Given the description of an element on the screen output the (x, y) to click on. 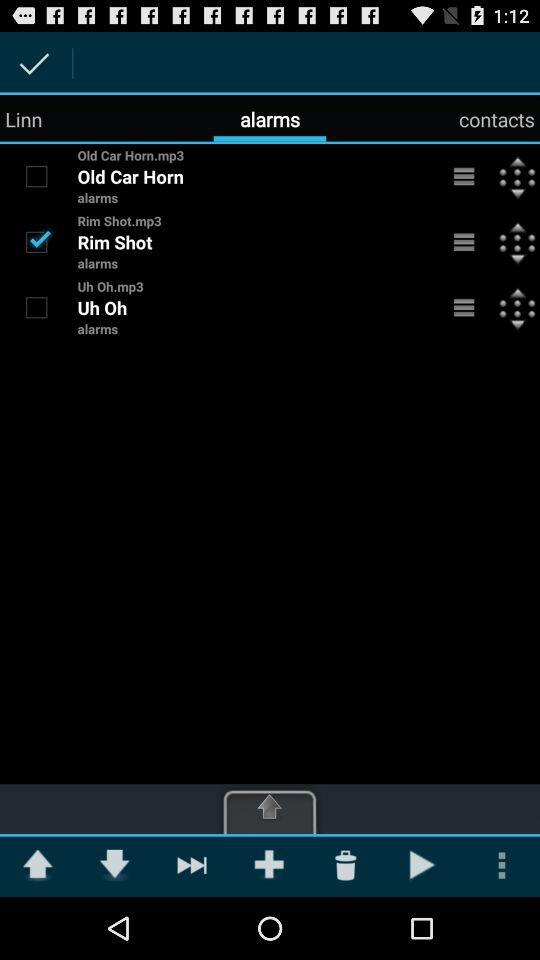
turn uh oh alarm (36, 307)
